Given the description of an element on the screen output the (x, y) to click on. 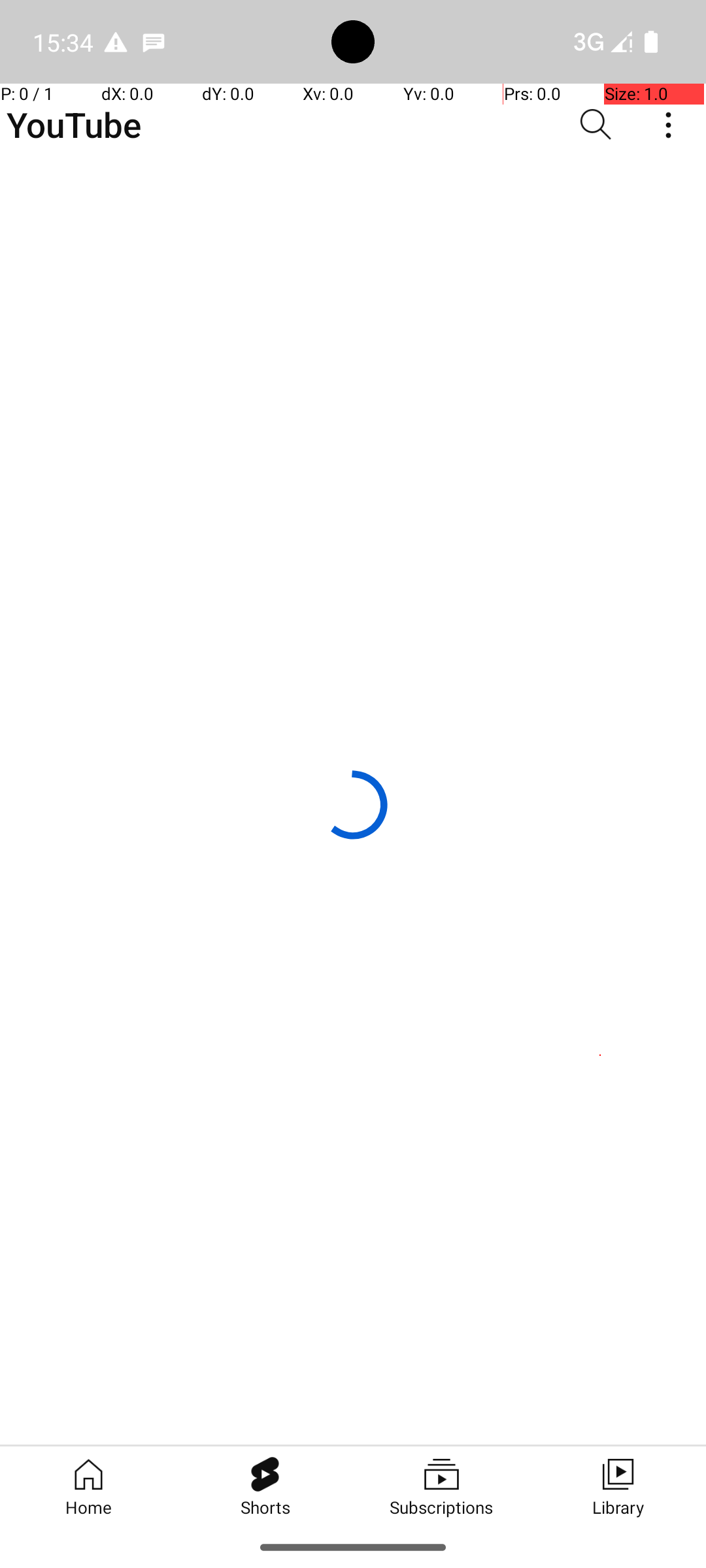
Shorts Element type: android.widget.Button (264, 1485)
Subscriptions Element type: android.widget.Button (441, 1485)
Library Element type: android.widget.Button (617, 1485)
